Given the description of an element on the screen output the (x, y) to click on. 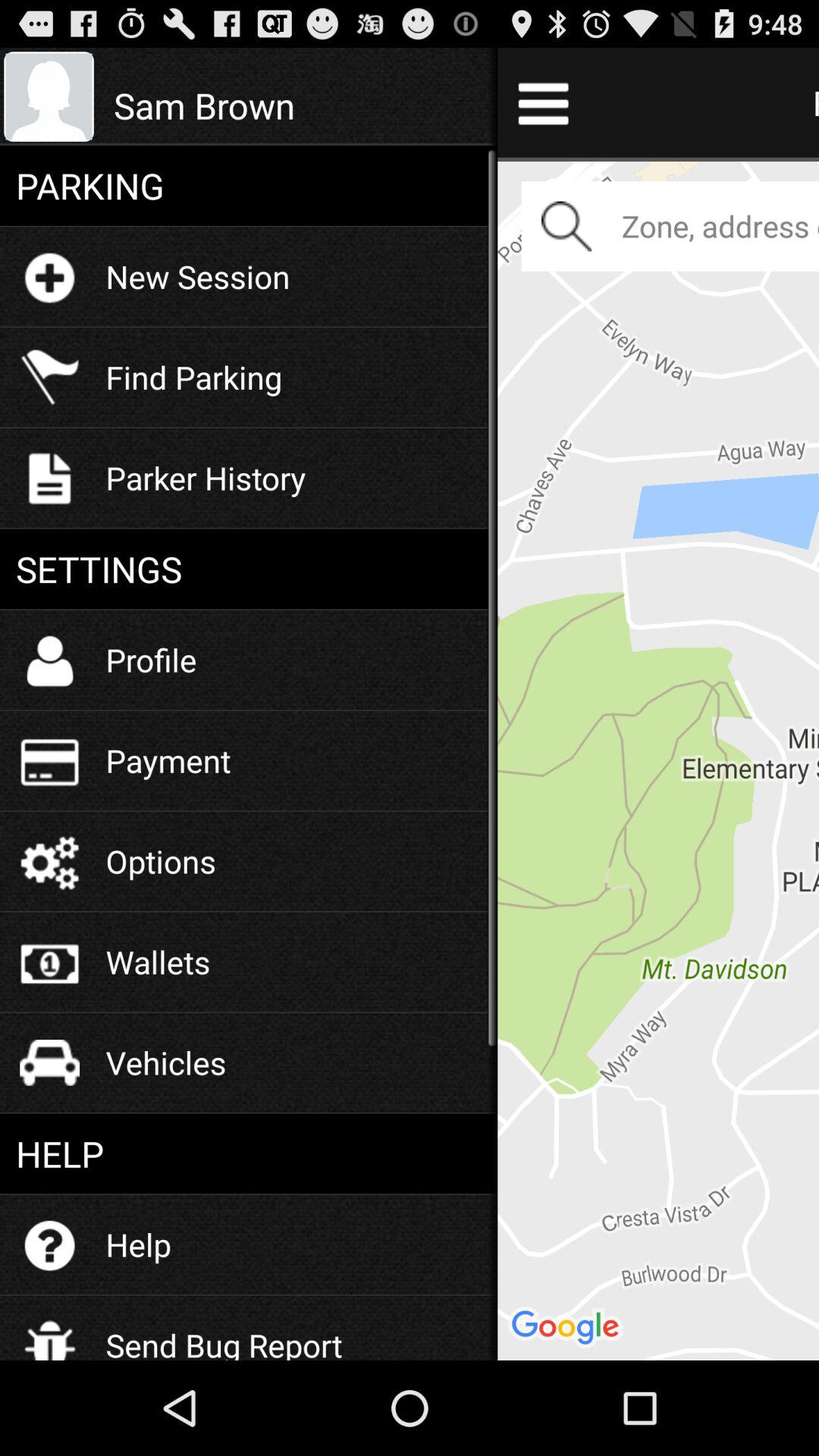
launch new session item (197, 275)
